Given the description of an element on the screen output the (x, y) to click on. 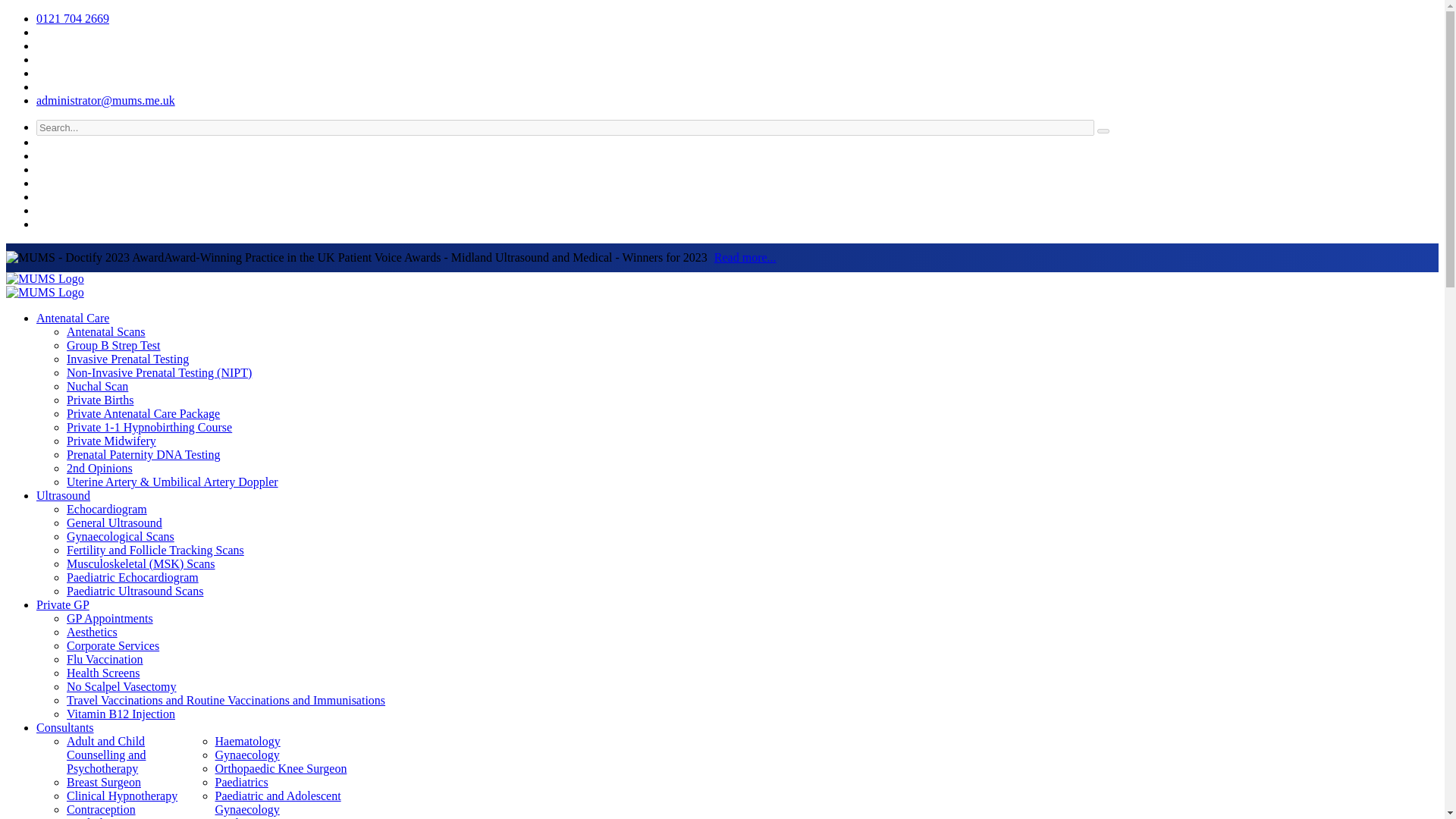
Read more... (745, 256)
Private Midwifery (110, 440)
Gynaecological Scans (120, 535)
Ultrasound (63, 495)
Invasive Prenatal Testing (127, 358)
Nuchal Scan (97, 386)
Group B Strep Test (113, 345)
2nd Opinions (99, 468)
Private Births (99, 399)
Private Antenatal Care Package (142, 413)
